Given the description of an element on the screen output the (x, y) to click on. 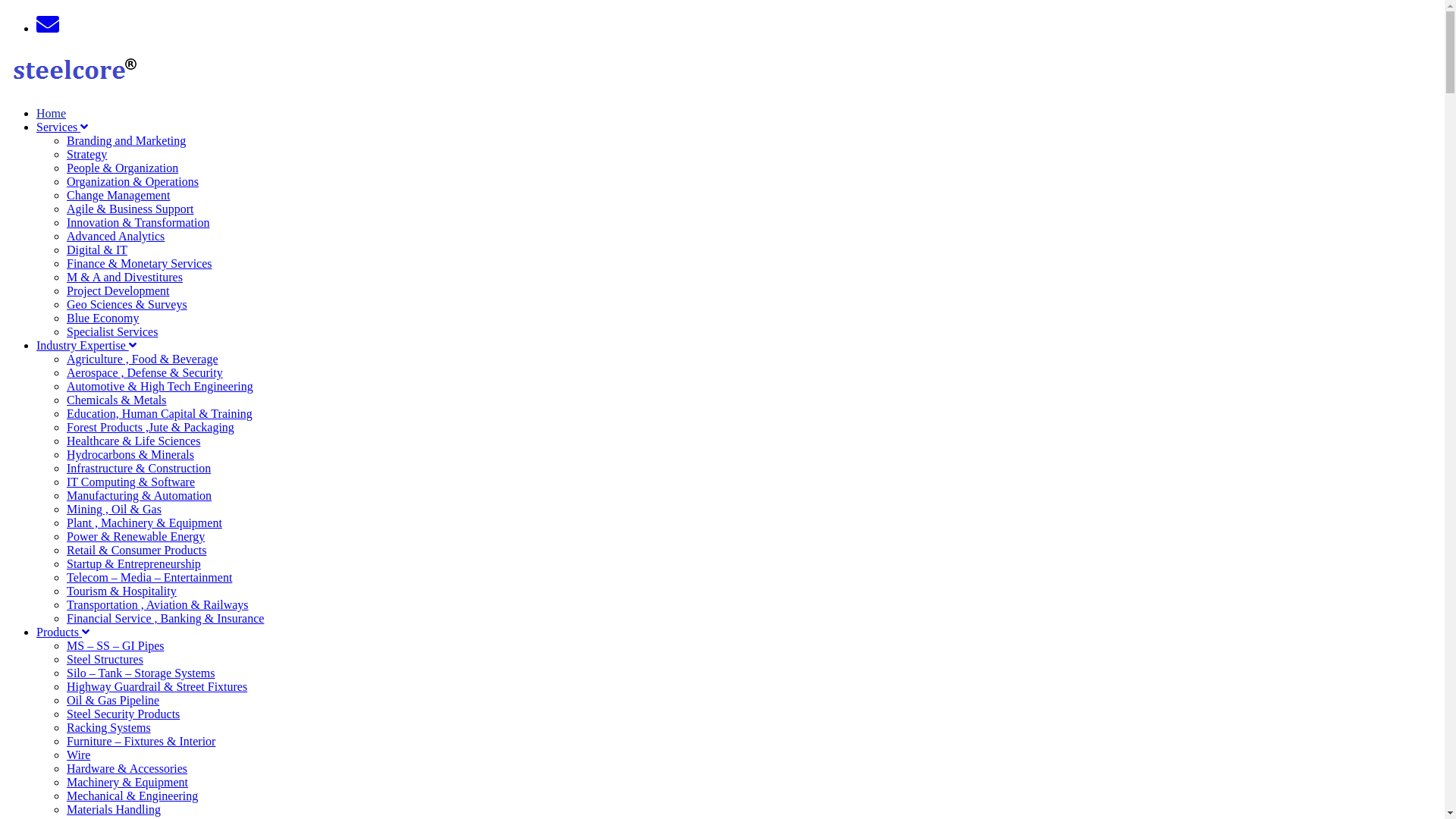
Services Element type: text (61, 126)
Materials Handling Element type: text (113, 809)
Steel Structures Element type: text (104, 658)
Email Element type: hover (47, 24)
Mechanical & Engineering Element type: text (131, 795)
Innovation & Transformation Element type: text (137, 222)
Products Element type: text (62, 631)
Branding and Marketing Element type: text (125, 140)
Startup & Entrepreneurship Element type: text (133, 563)
Home Element type: text (50, 112)
Plant , Machinery & Equipment Element type: text (144, 522)
Financial Service , Banking & Insurance Element type: text (164, 617)
Highway Guardrail & Street Fixtures Element type: text (156, 686)
Forest Products ,Jute & Packaging Element type: text (150, 426)
M & A and Divestitures Element type: text (124, 276)
Machinery & Equipment Element type: text (127, 781)
IT Computing & Software Element type: text (130, 481)
Power & Renewable Energy Element type: text (135, 536)
Mining , Oil & Gas Element type: text (113, 508)
Wire Element type: text (78, 754)
Organization & Operations Element type: text (132, 181)
Agriculture , Food & Beverage Element type: text (142, 358)
Healthcare & Life Sciences Element type: text (133, 440)
Advanced Analytics Element type: text (115, 235)
Industry Expertise Element type: text (86, 344)
People & Organization Element type: text (122, 167)
Retail & Consumer Products Element type: text (136, 549)
Steel Security Products Element type: text (122, 713)
Finance & Monetary Services Element type: text (139, 263)
Change Management Element type: text (117, 194)
Chemicals & Metals Element type: text (116, 399)
Manufacturing & Automation Element type: text (138, 495)
Agile & Business Support Element type: text (130, 208)
Project Development Element type: text (117, 290)
Automotive & High Tech Engineering Element type: text (159, 385)
Aerospace , Defense & Security Element type: text (144, 372)
Tourism & Hospitality Element type: text (121, 590)
Education, Human Capital & Training Element type: text (159, 413)
Digital & IT Element type: text (96, 249)
Specialist Services Element type: text (111, 331)
Oil & Gas Pipeline Element type: text (112, 699)
Geo Sciences & Surveys Element type: text (126, 304)
Hydrocarbons & Minerals Element type: text (130, 454)
Hardware & Accessories Element type: text (126, 768)
Racking Systems Element type: text (108, 727)
Blue Economy Element type: text (102, 317)
Infrastructure & Construction Element type: text (138, 467)
Transportation , Aviation & Railways Element type: text (157, 604)
Strategy Element type: text (86, 153)
